Given the description of an element on the screen output the (x, y) to click on. 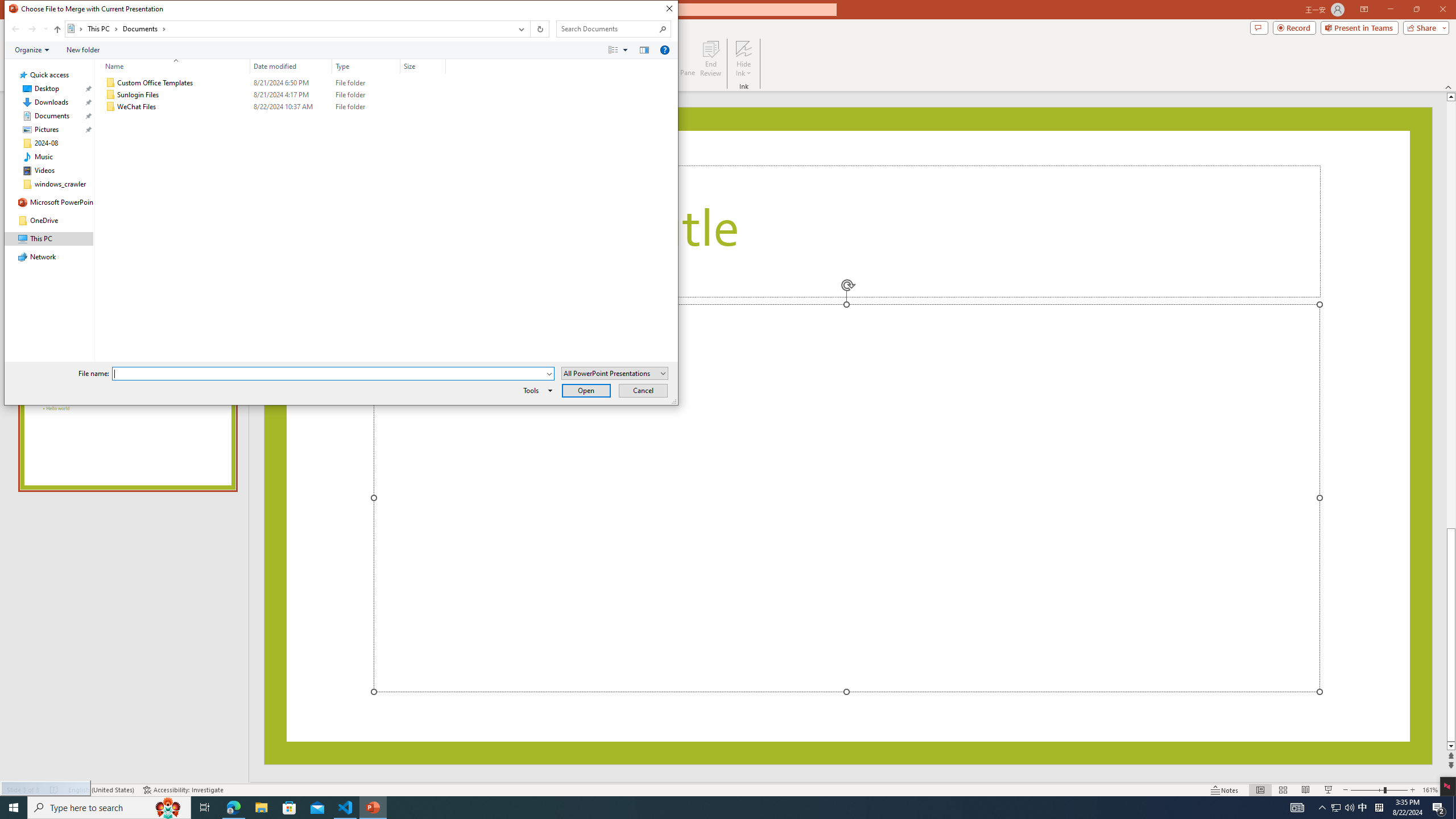
Tools (535, 390)
This PC (102, 28)
Q2790: 100% (1349, 807)
Spell Check No Errors (54, 790)
Date modified (290, 106)
File name: (333, 373)
Back (Alt + Left Arrow) (15, 28)
Up to "This PC" (Alt + Up Arrow) (57, 29)
Up band toolbar (57, 30)
View Slider (625, 49)
